Given the description of an element on the screen output the (x, y) to click on. 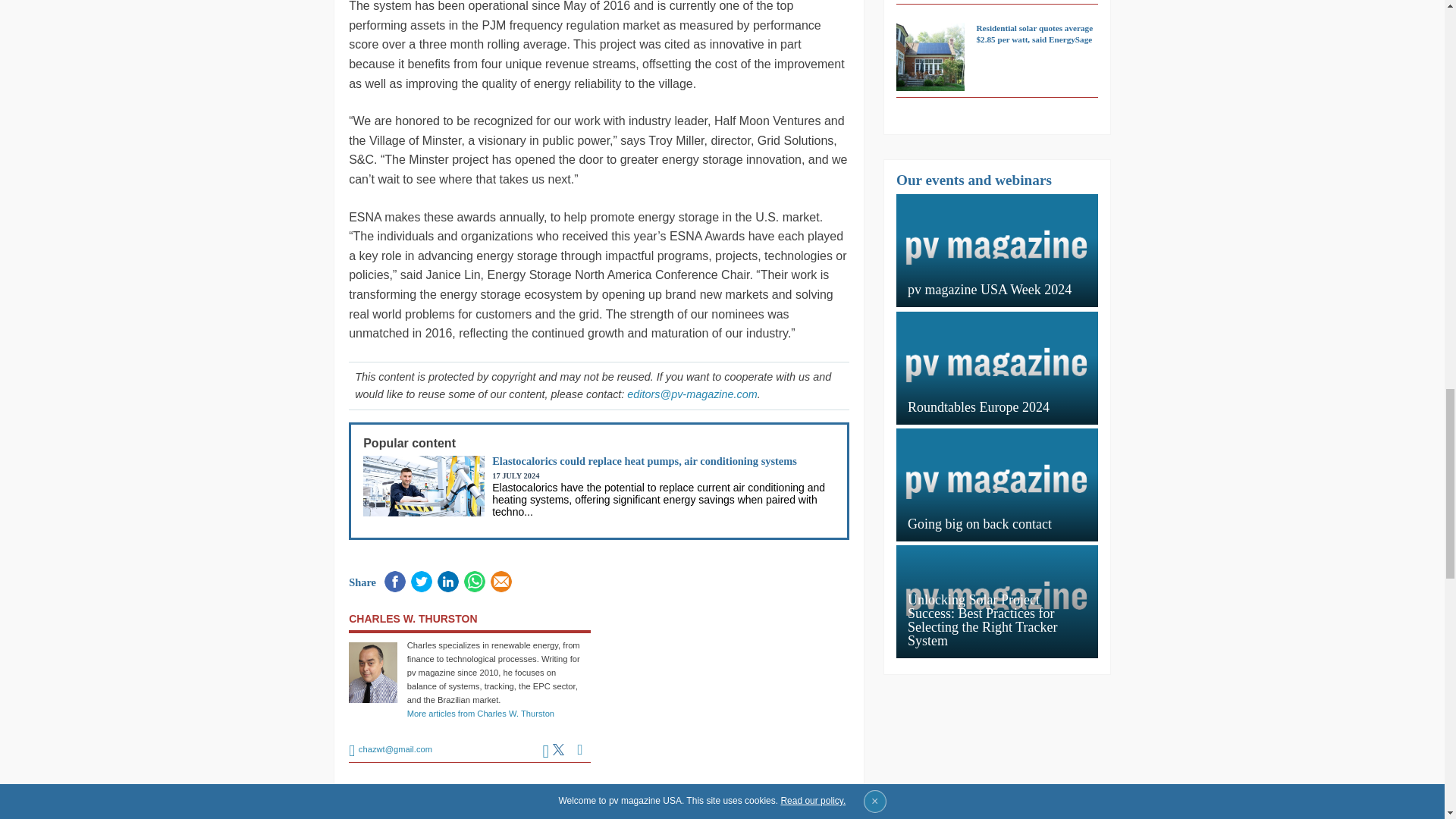
3rd party ad content (727, 677)
